Given the description of an element on the screen output the (x, y) to click on. 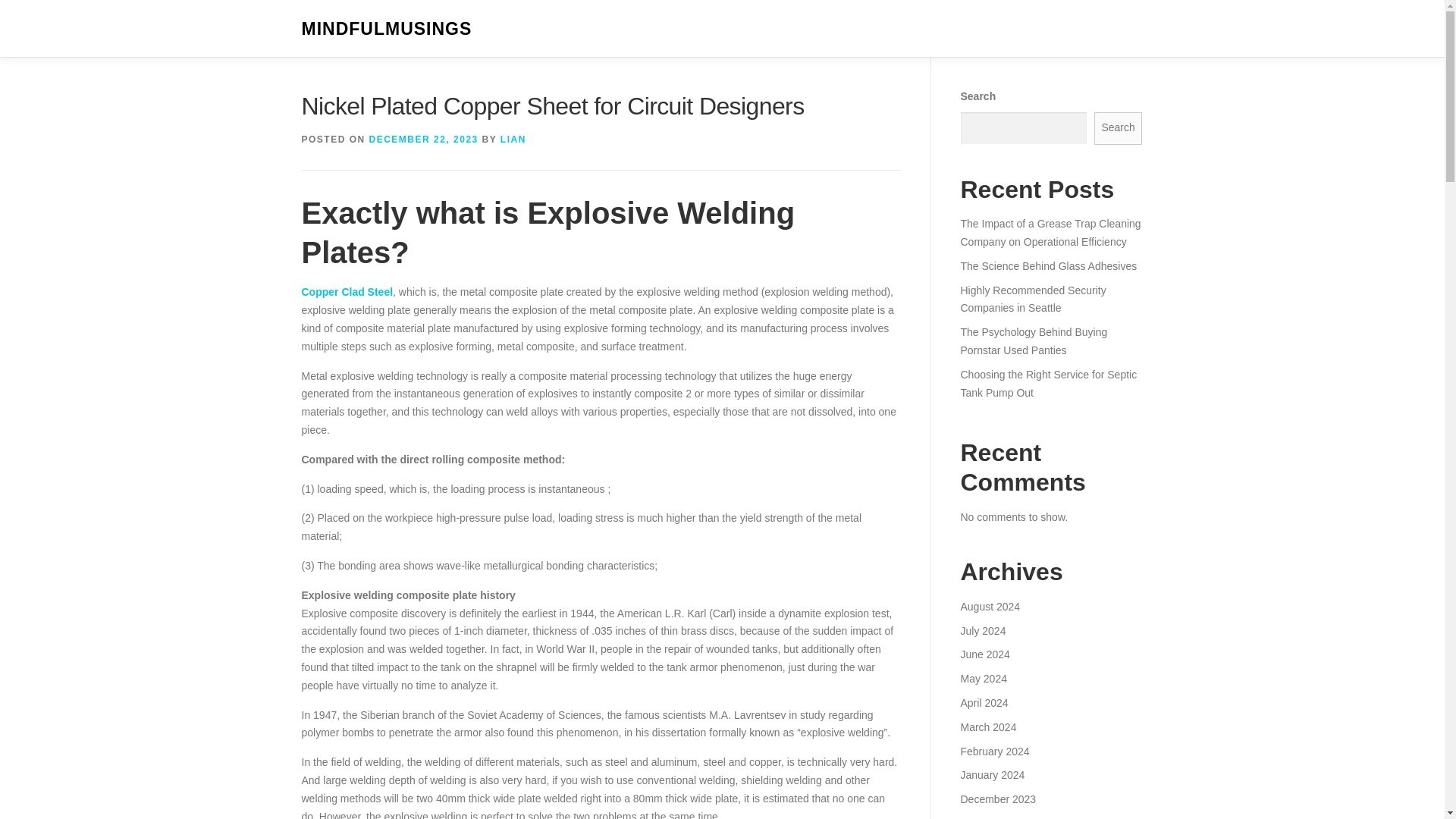
April 2024 (983, 702)
Choosing the Right Service for Septic Tank Pump Out (1048, 383)
August 2024 (989, 606)
The Psychology Behind Buying Pornstar Used Panties (1032, 340)
March 2024 (987, 727)
MINDFULMUSINGS (386, 29)
Copper Clad Steel (347, 291)
July 2024 (982, 630)
January 2024 (992, 775)
DECEMBER 22, 2023 (424, 139)
February 2024 (994, 750)
December 2023 (997, 799)
June 2024 (984, 654)
November 2023 (997, 818)
